Given the description of an element on the screen output the (x, y) to click on. 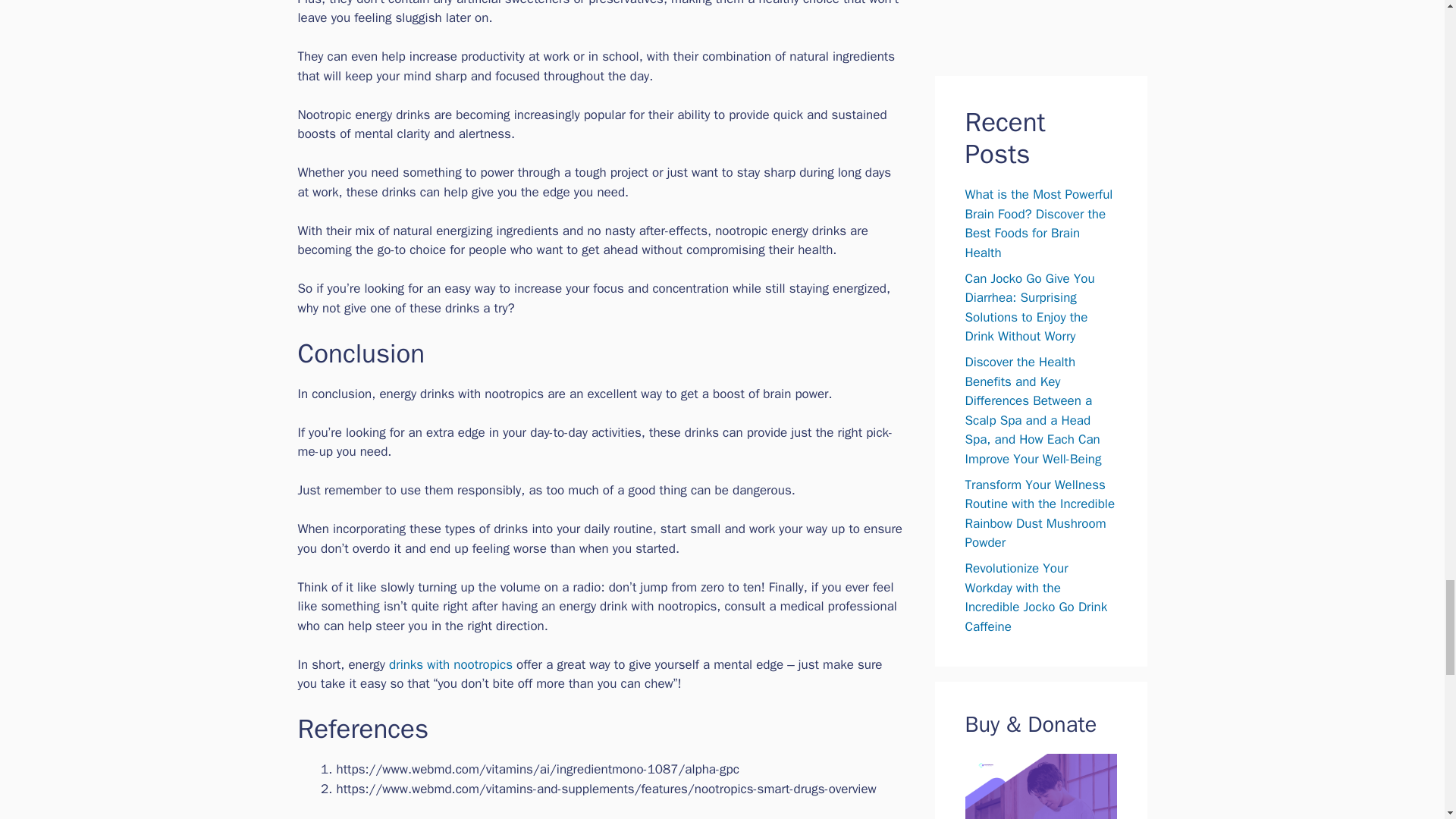
drinks with nootropics (450, 664)
